Given the description of an element on the screen output the (x, y) to click on. 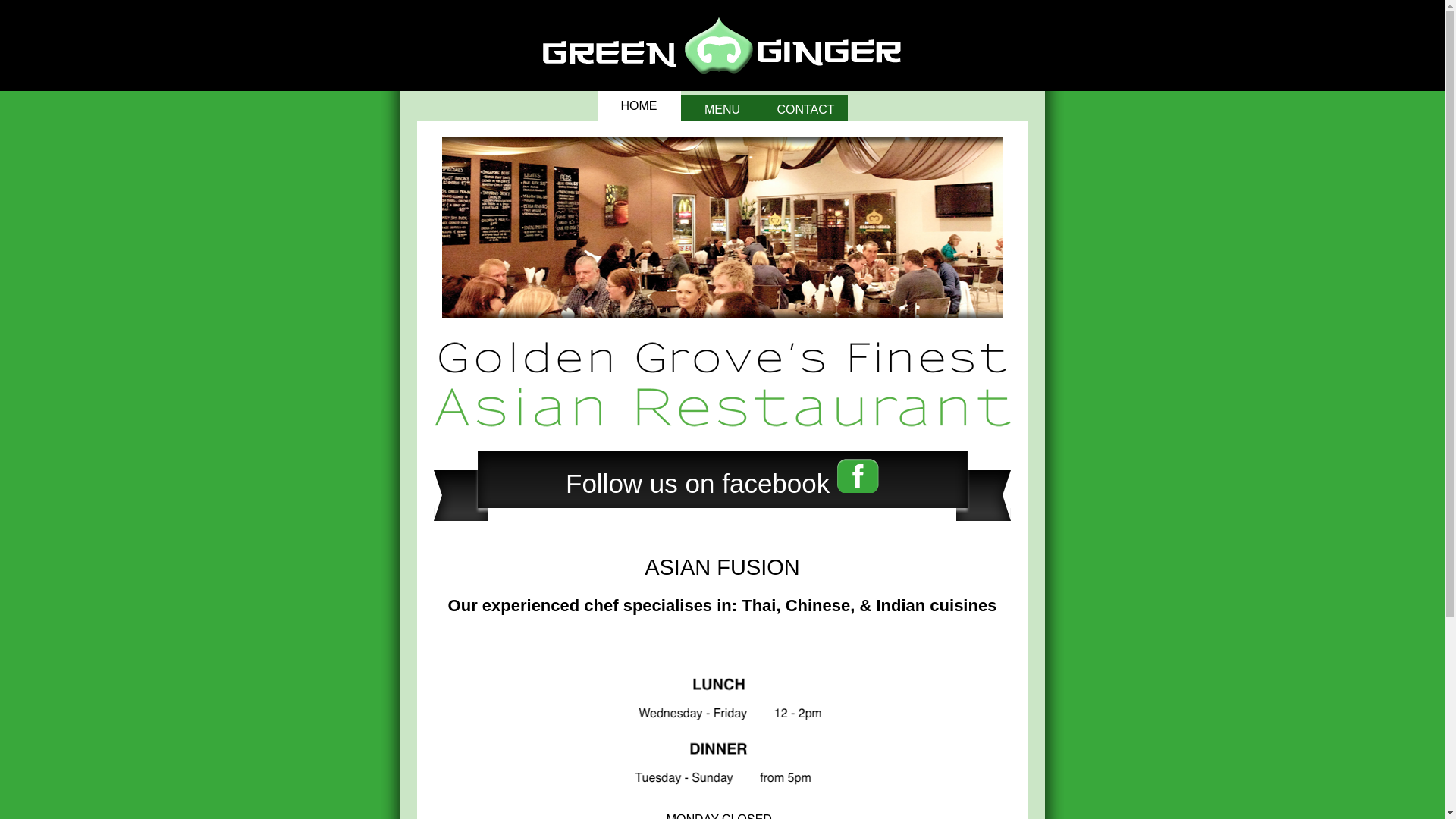
CONTACT Element type: text (805, 107)
HOME Element type: text (638, 106)
MENU Element type: text (722, 107)
